Given the description of an element on the screen output the (x, y) to click on. 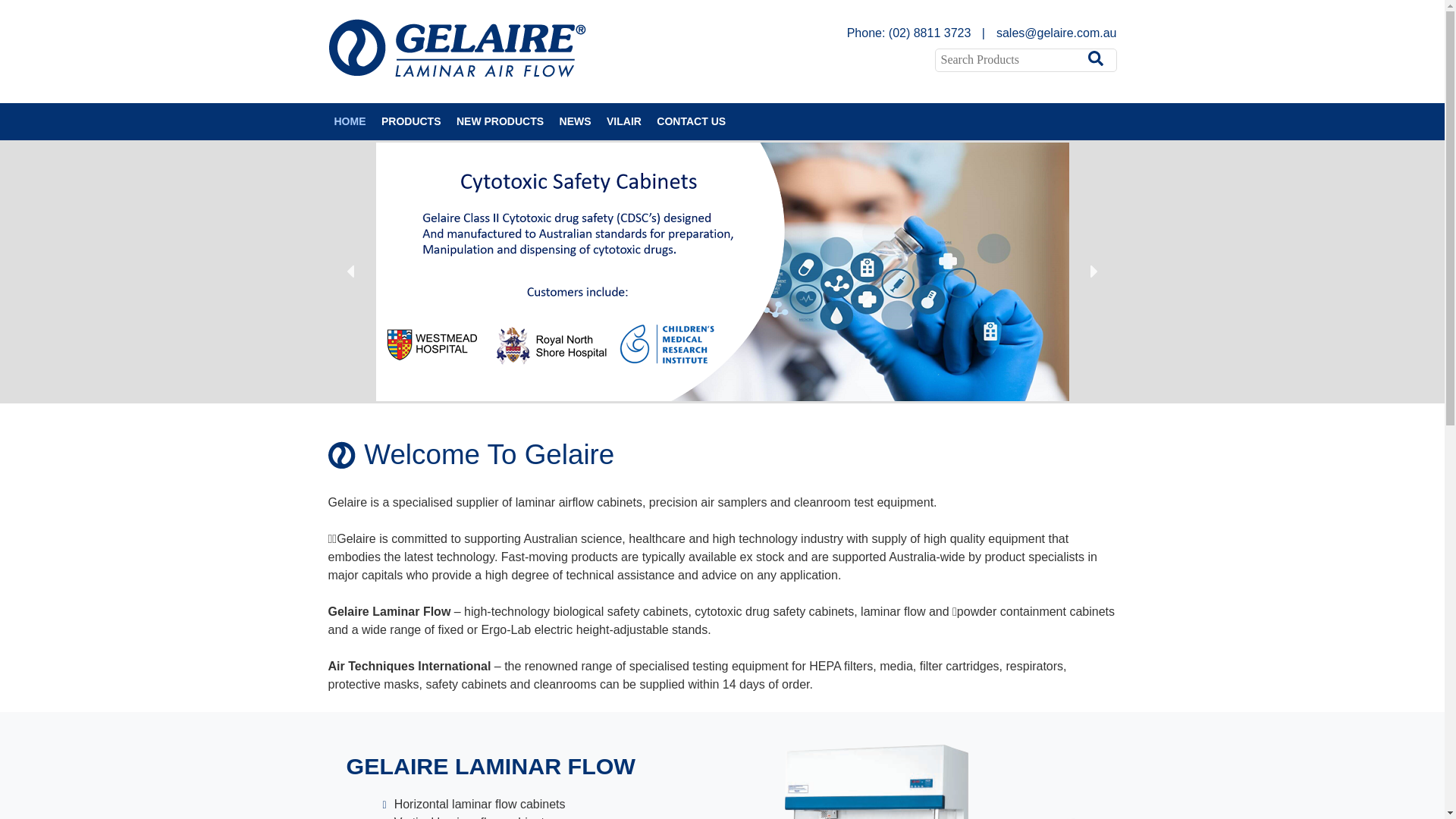
HOME Element type: text (349, 121)
NEW PRODUCTS Element type: text (499, 121)
PRODUCTS Element type: text (411, 121)
VILAIR Element type: text (623, 121)
CONTACT US Element type: text (690, 121)
Search for: Element type: hover (1011, 59)
Search Element type: text (22, 12)
sales@gelaire.com.au Element type: text (1045, 32)
NEWS Element type: text (575, 121)
